Given the description of an element on the screen output the (x, y) to click on. 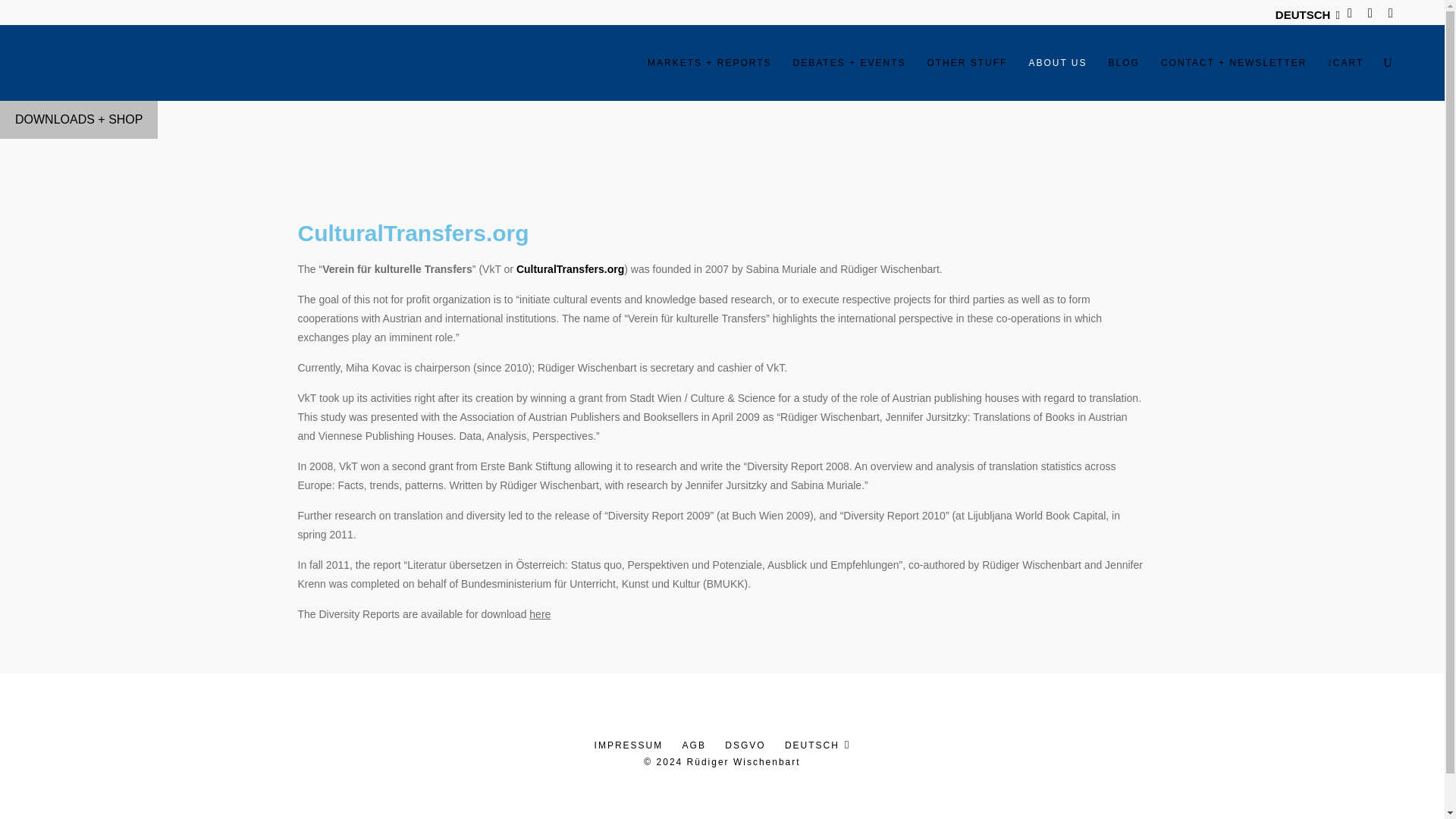
DEUTSCH (1302, 14)
ABOUT US (1057, 62)
OTHER STUFF (966, 62)
